Given the description of an element on the screen output the (x, y) to click on. 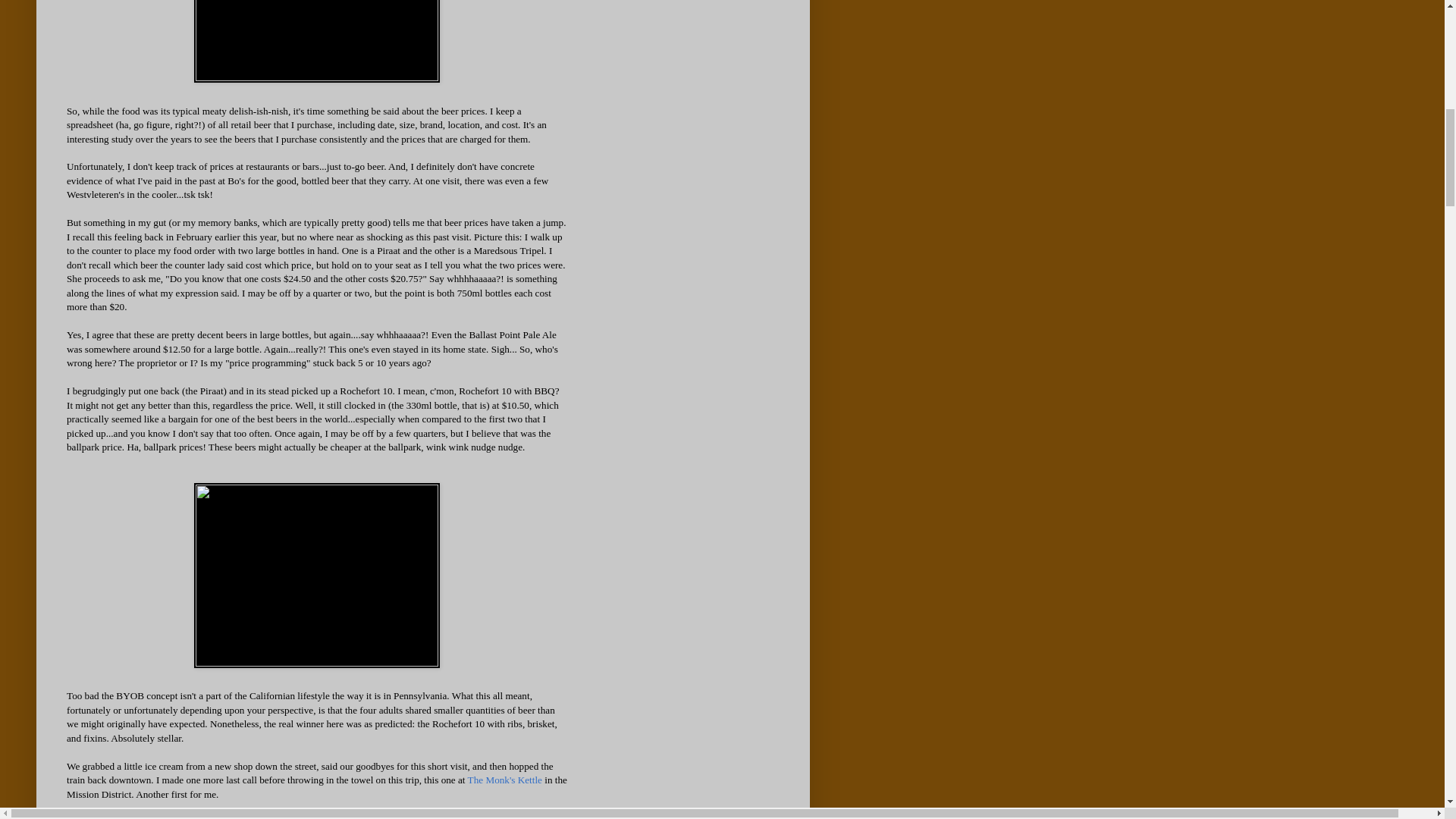
The Monk's Kettle (504, 779)
